Given the description of an element on the screen output the (x, y) to click on. 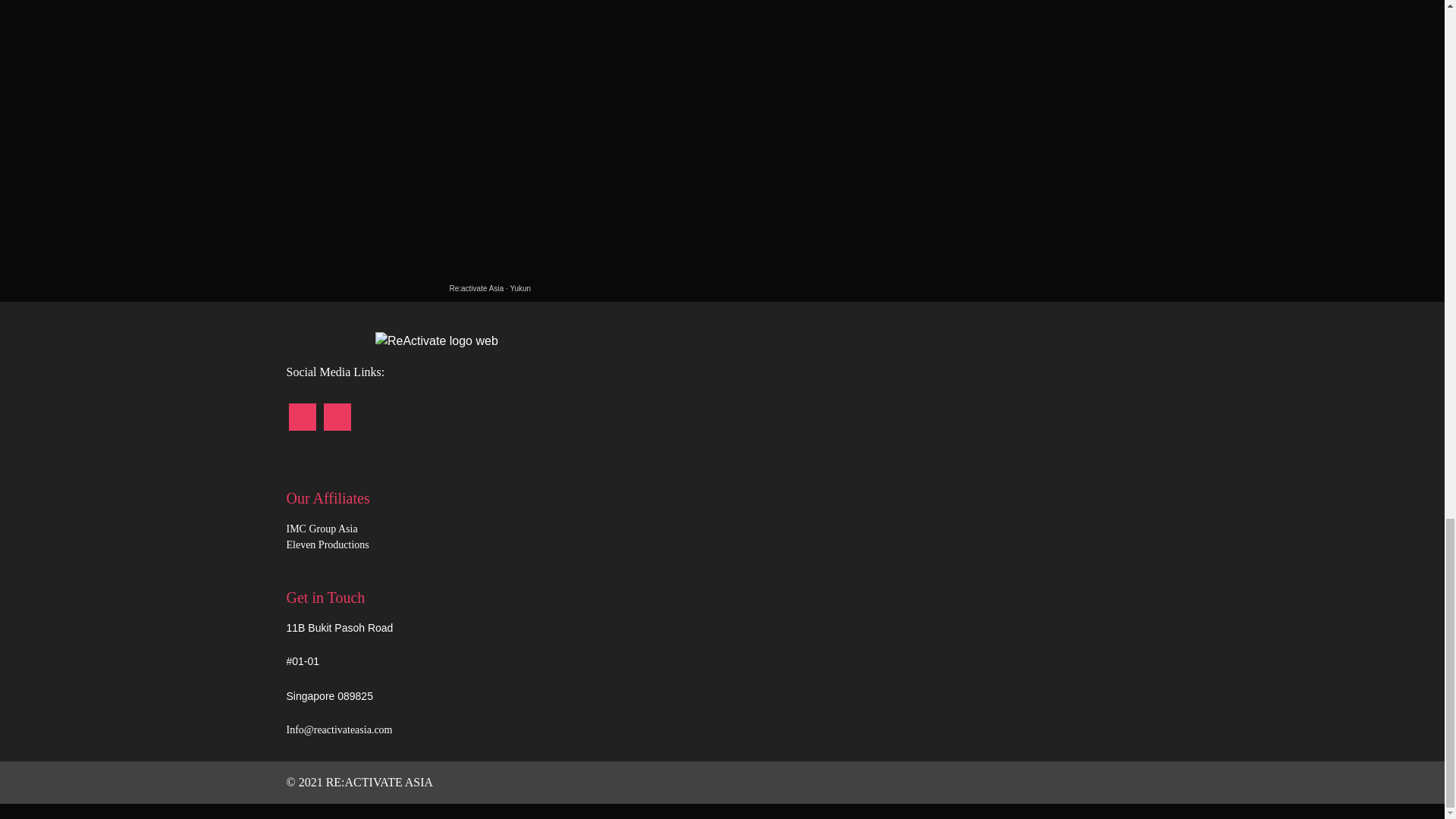
Re:activate Asia (475, 288)
Yukun (520, 288)
Eleven Productions (327, 544)
ReActivate logo web (436, 340)
IMC Group Asia (322, 528)
Re:activate Asia (475, 288)
Yukun (520, 288)
